Given the description of an element on the screen output the (x, y) to click on. 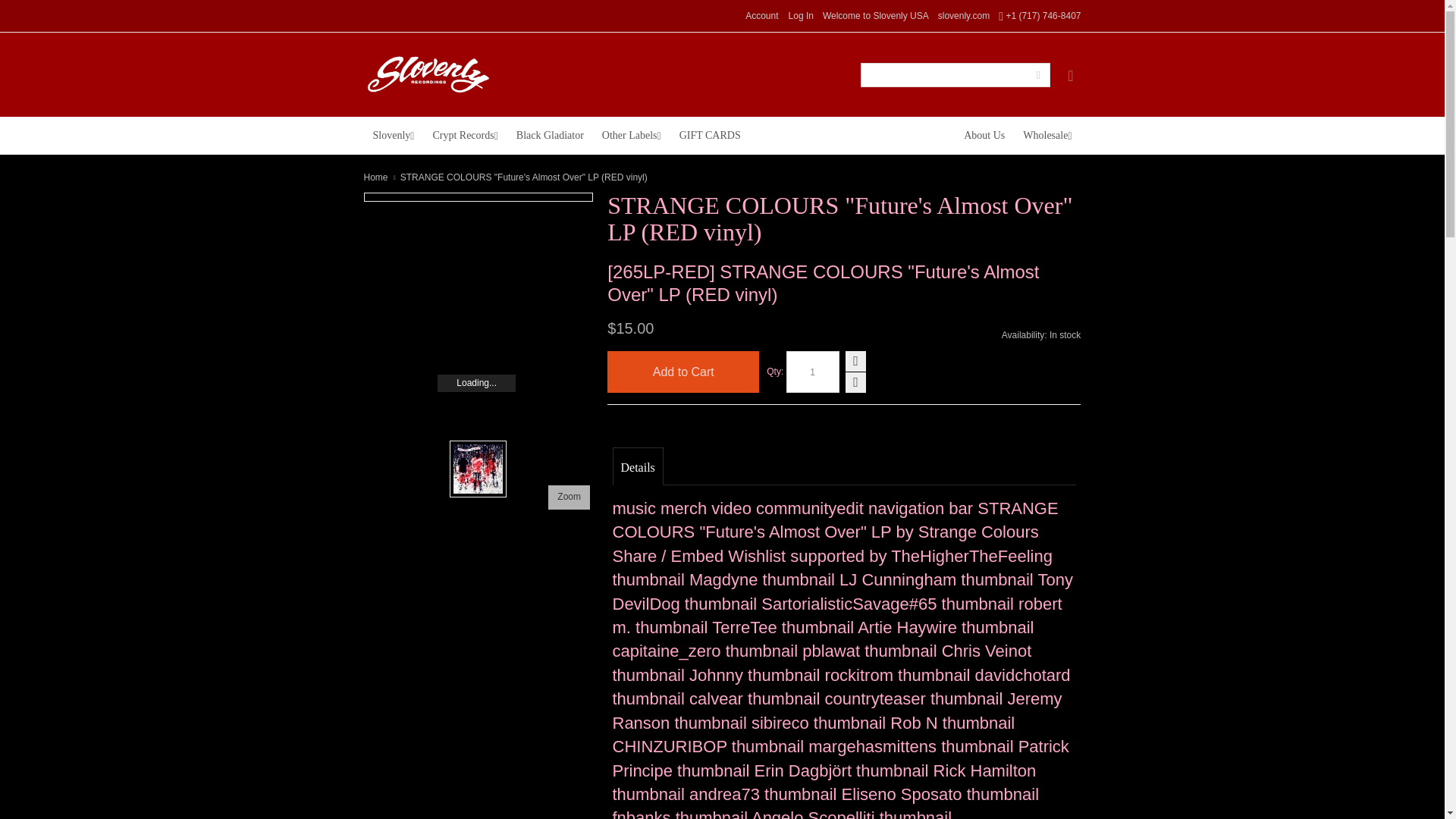
Other Labels (630, 135)
Back to Slovenly homepage (963, 15)
Log In (800, 15)
Crypt Records (464, 135)
Go to Home Page (376, 177)
Slovenly (393, 135)
Search (1037, 74)
Black Gladiator (549, 135)
Add to Cart (682, 372)
Account (761, 15)
Slovenly Recordings (428, 74)
About Us (984, 135)
Qty (813, 372)
1 (813, 372)
Account (761, 15)
